Given the description of an element on the screen output the (x, y) to click on. 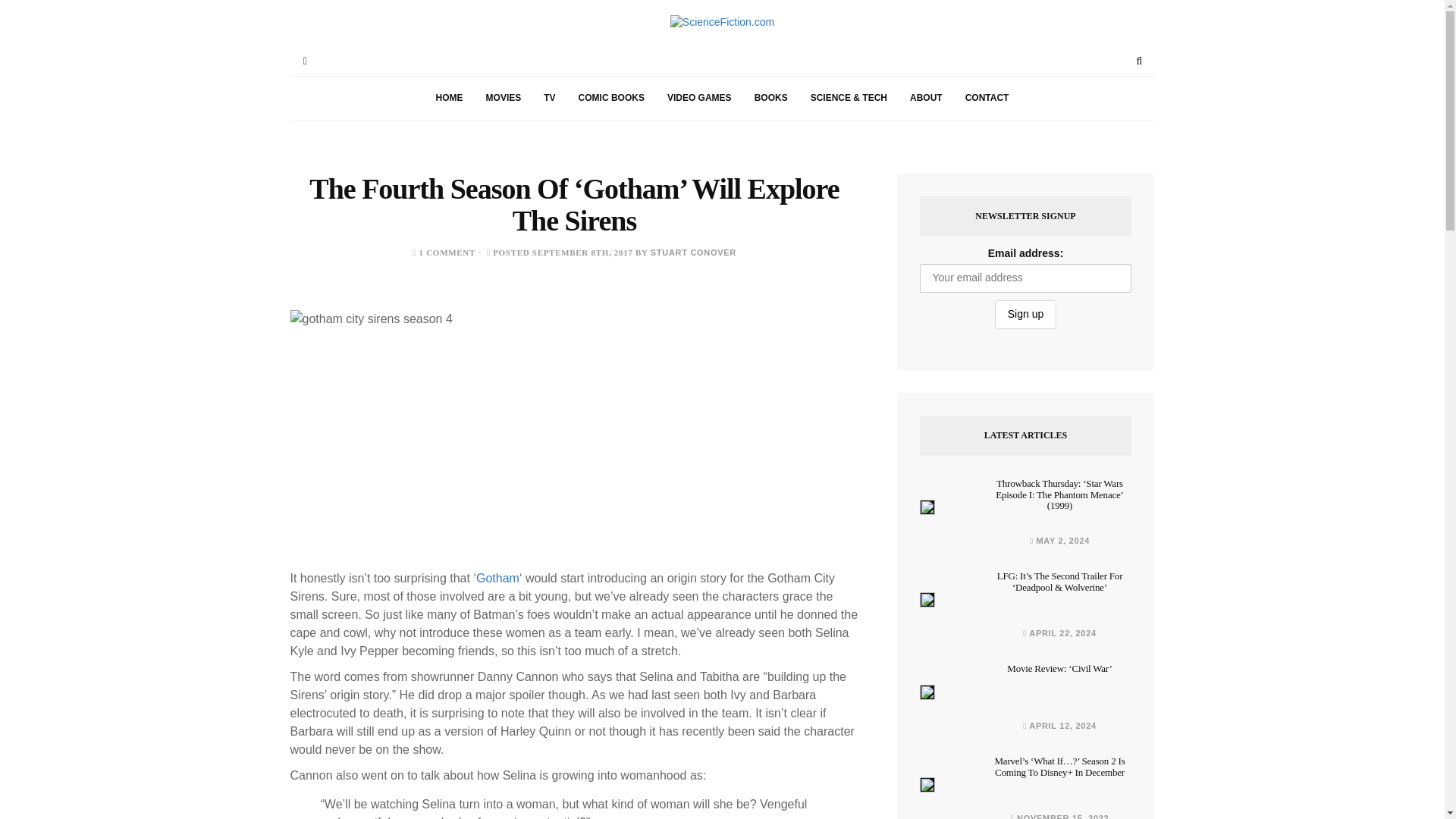
Posts by Stuart Conover (693, 252)
Search (1139, 60)
Sign up (1025, 314)
1 COMMENT (447, 252)
BOOKS (770, 97)
COMIC BOOKS (611, 97)
STUART CONOVER (693, 252)
ABOUT (925, 97)
HOME (449, 97)
CONTACT (986, 97)
MOVIES (503, 97)
VIDEO GAMES (699, 97)
TV (549, 97)
